Given the description of an element on the screen output the (x, y) to click on. 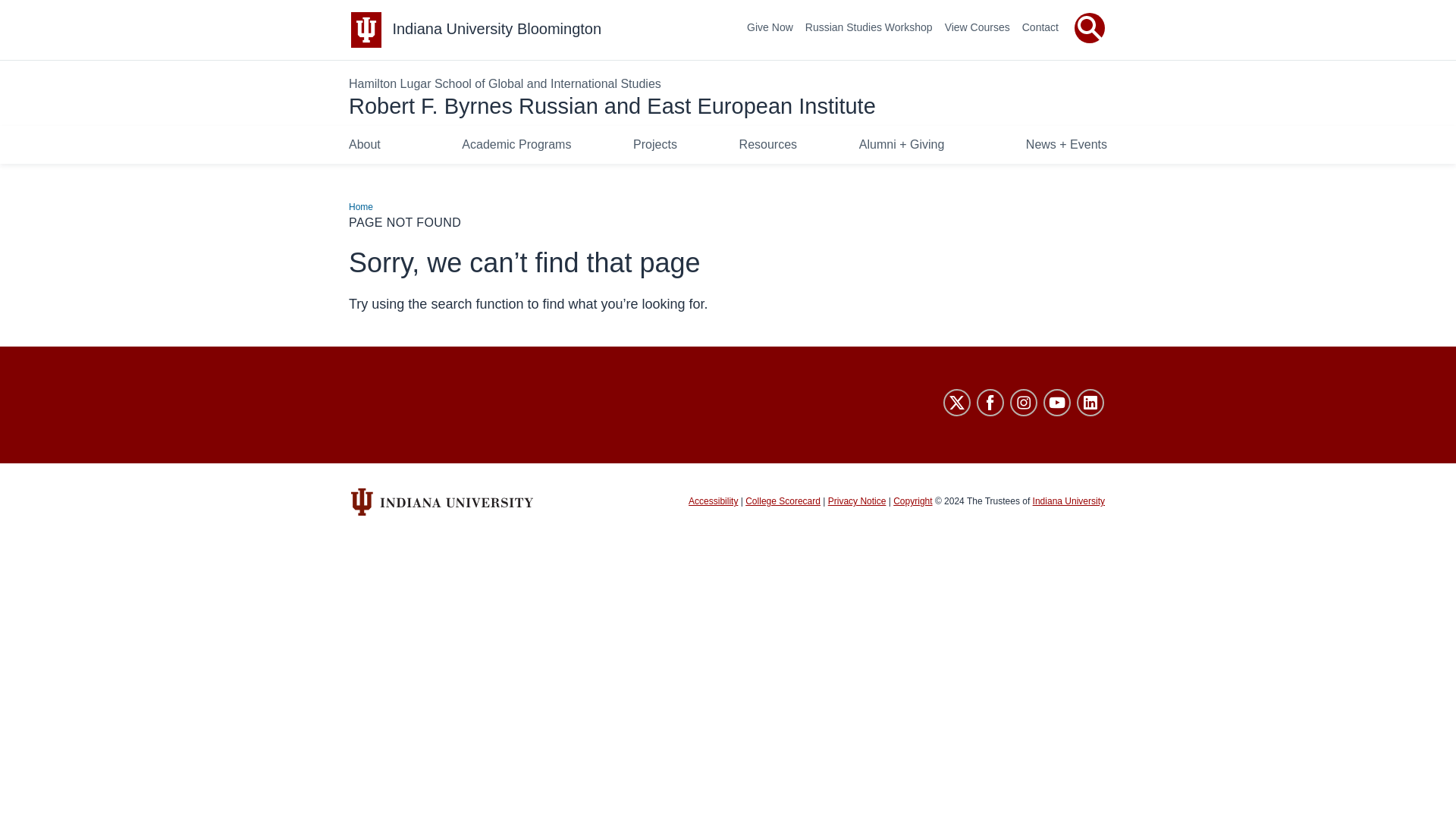
Indiana University Bloomington (496, 28)
Indiana University Bloomington (496, 28)
